Given the description of an element on the screen output the (x, y) to click on. 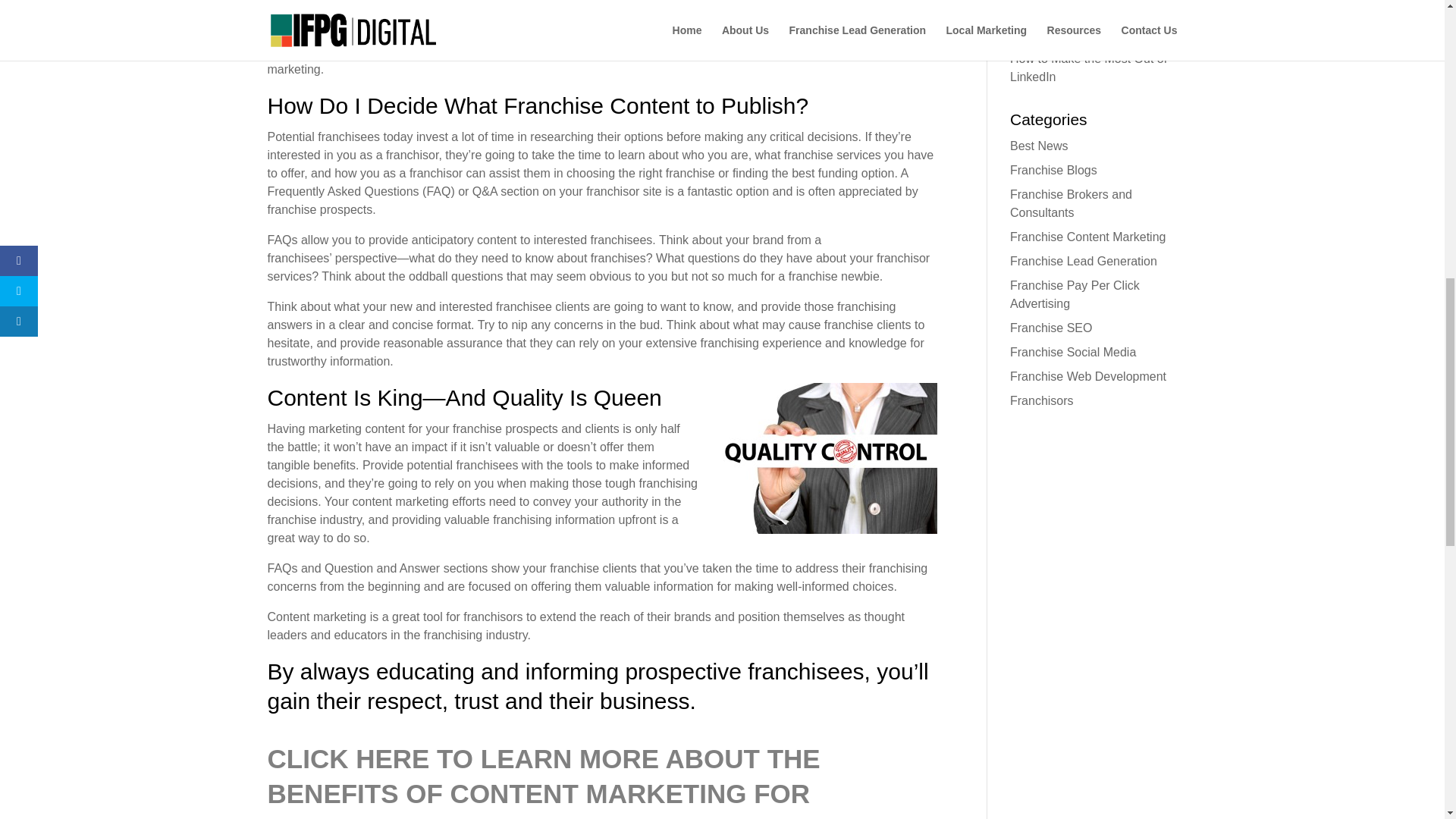
Franchise Lead Generation (1083, 260)
Franchise SEO (1051, 327)
Franchisors (1042, 400)
Best News (1038, 145)
Franchise Social Media (1072, 351)
Franchise Brokers and Consultants (1071, 203)
How to Make the Most Out of LinkedIn (1088, 67)
Franchise Pay Per Click Advertising (1075, 294)
Franchise Content Marketing (1088, 236)
